Given the description of an element on the screen output the (x, y) to click on. 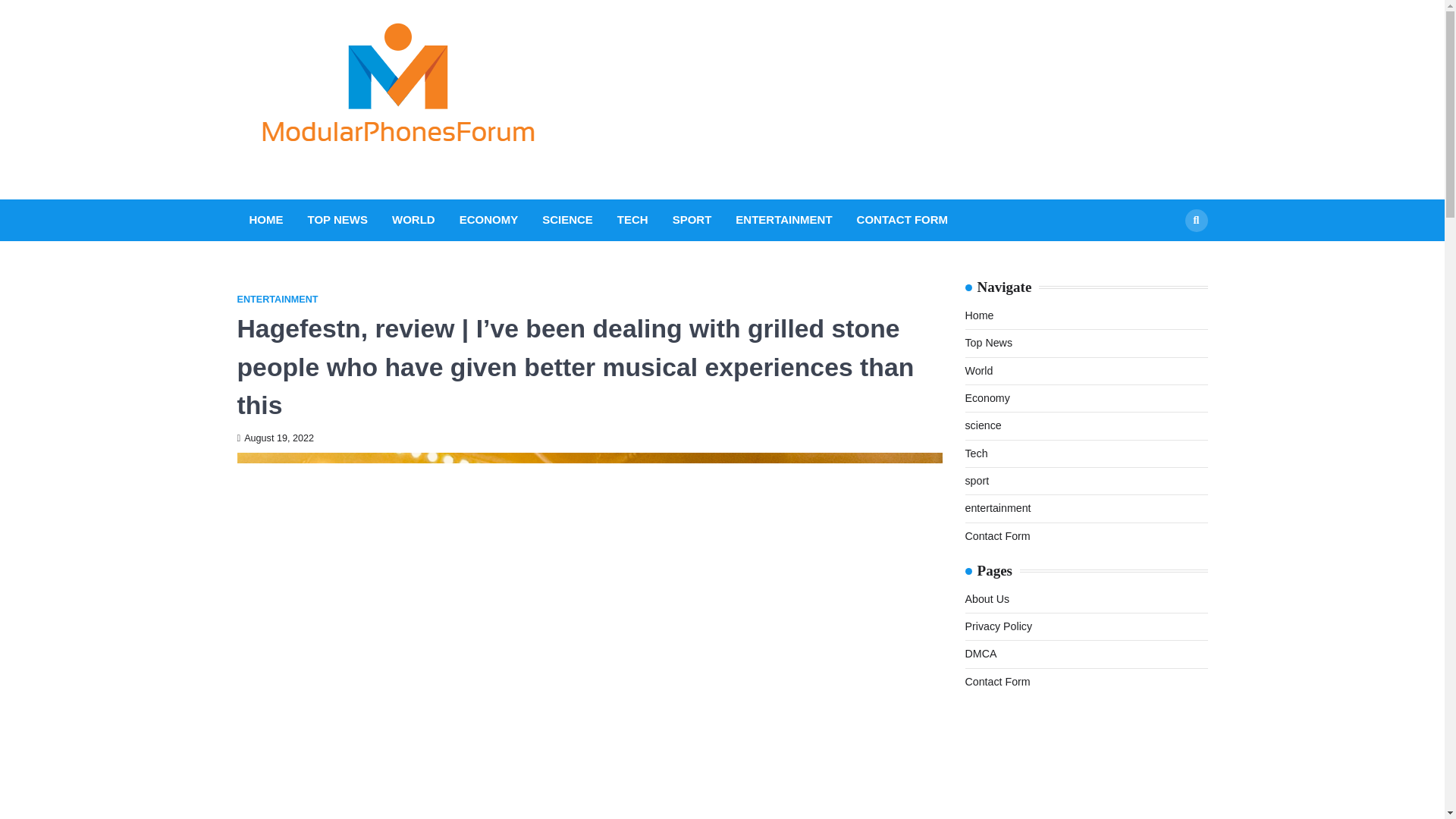
TECH (632, 220)
Economy (986, 398)
HOME (265, 220)
TOP NEWS (337, 220)
World (977, 370)
ENTERTAINMENT (276, 299)
ENTERTAINMENT (783, 220)
science (982, 425)
SPORT (691, 220)
Contact Form (996, 535)
